Given the description of an element on the screen output the (x, y) to click on. 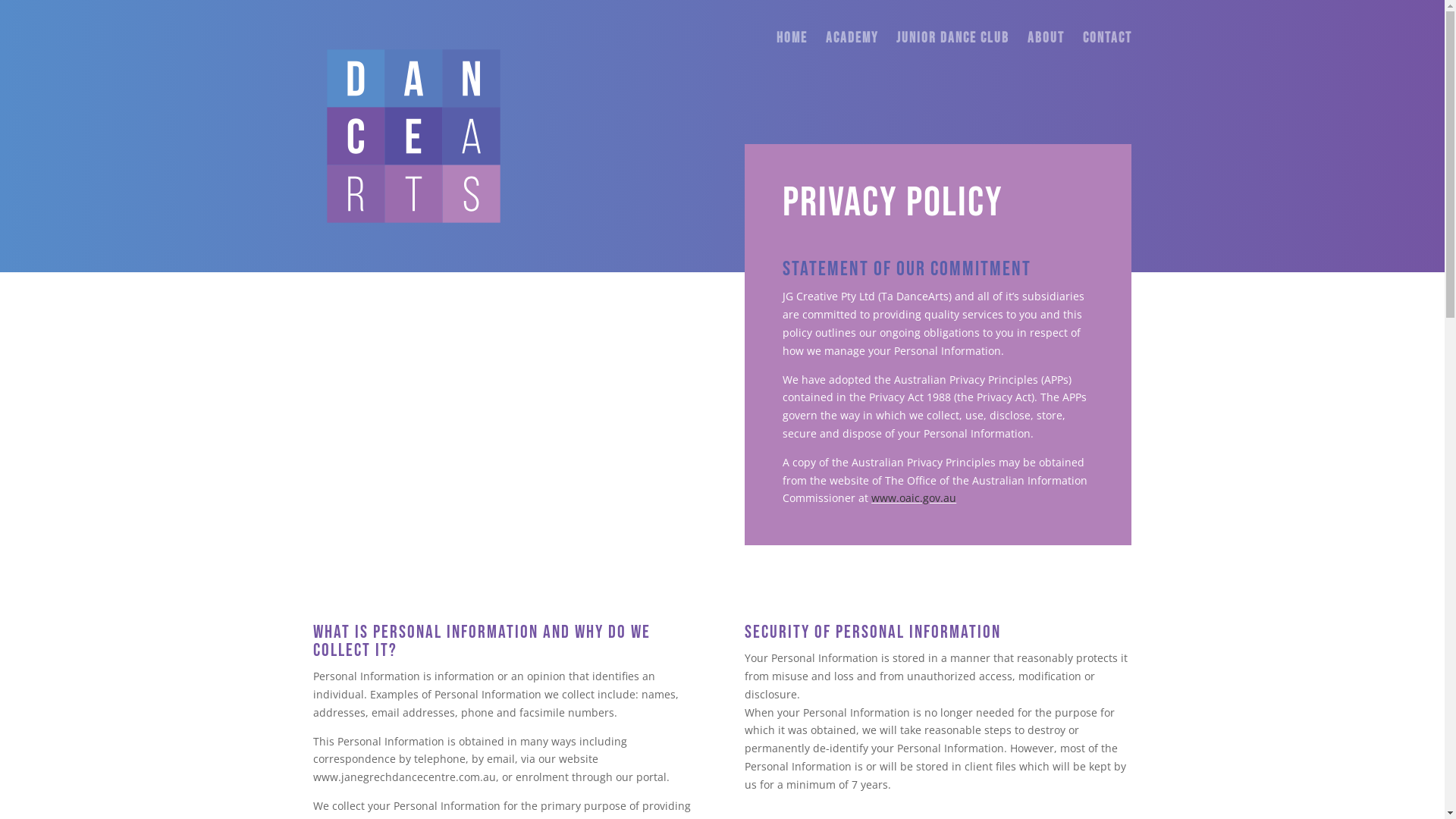
Junior Dance Club Element type: text (952, 55)
Home Element type: text (791, 55)
About Element type: text (1044, 55)
www.oaic.gov.au Element type: text (913, 497)
Contact Element type: text (1107, 55)
Academy Element type: text (851, 55)
Dance ArtsLogo Element type: hover (412, 135)
